Given the description of an element on the screen output the (x, y) to click on. 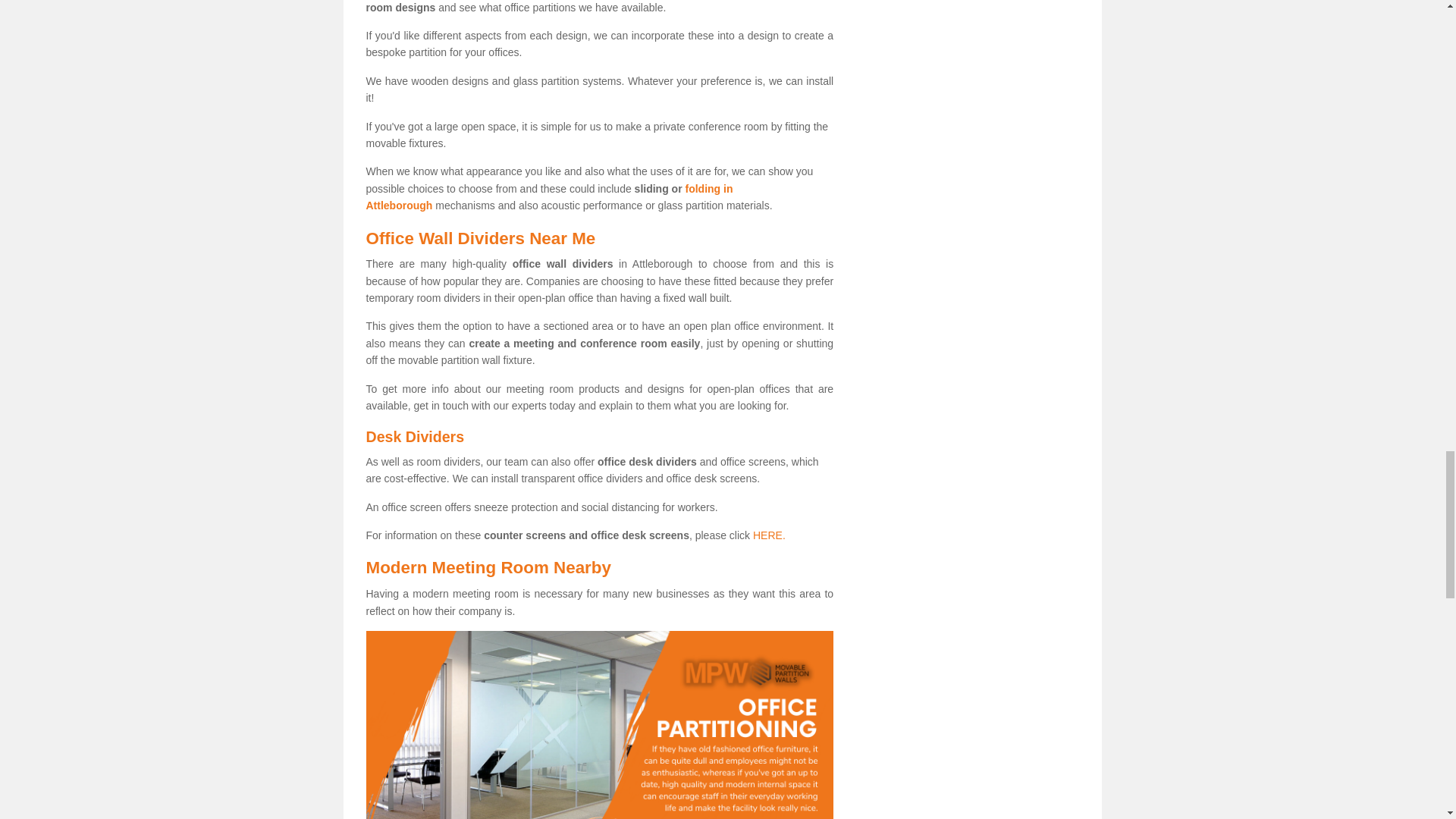
Office (598, 724)
folding in Attleborough (548, 196)
